Given the description of an element on the screen output the (x, y) to click on. 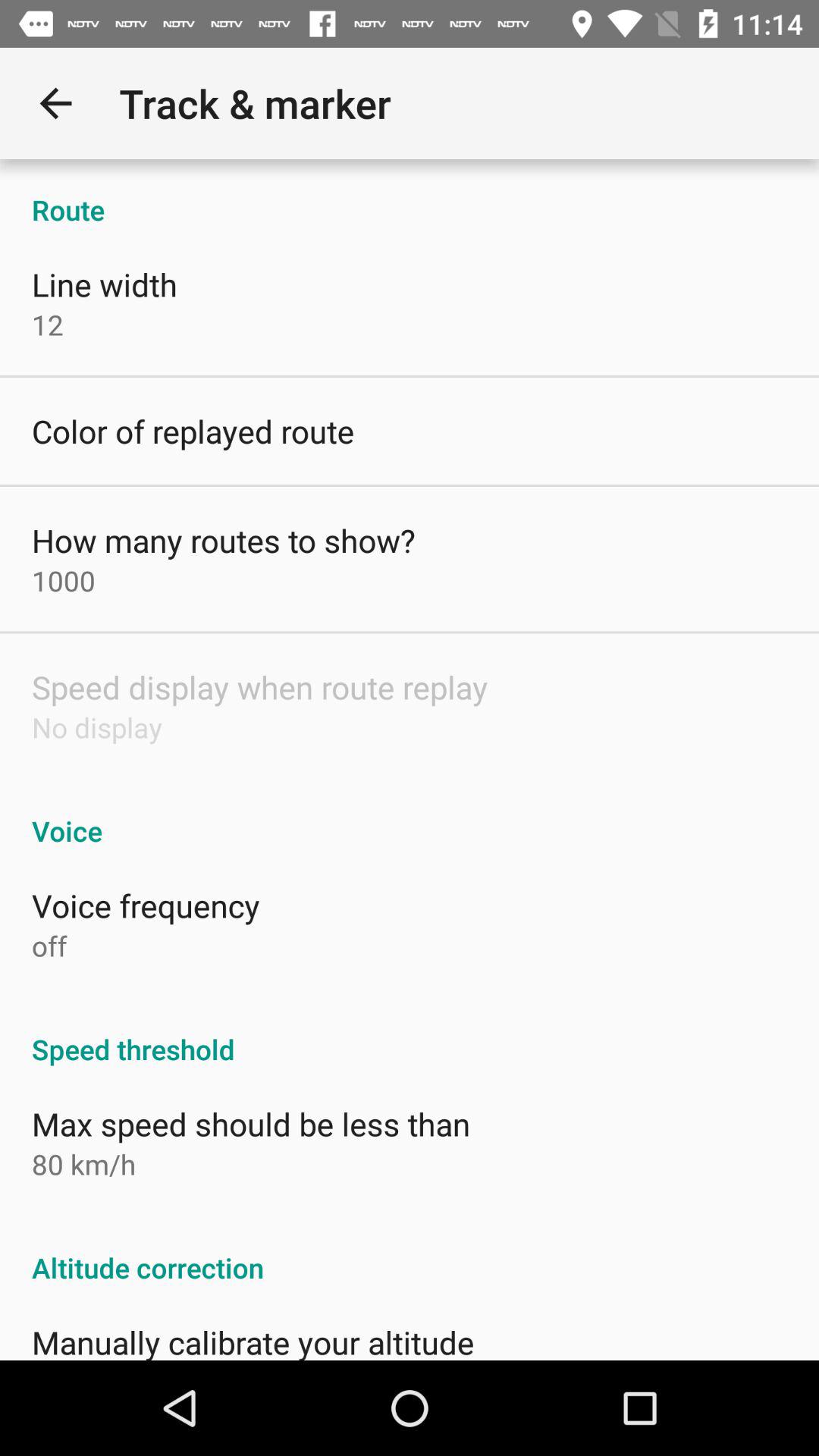
press icon above the voice (96, 727)
